Given the description of an element on the screen output the (x, y) to click on. 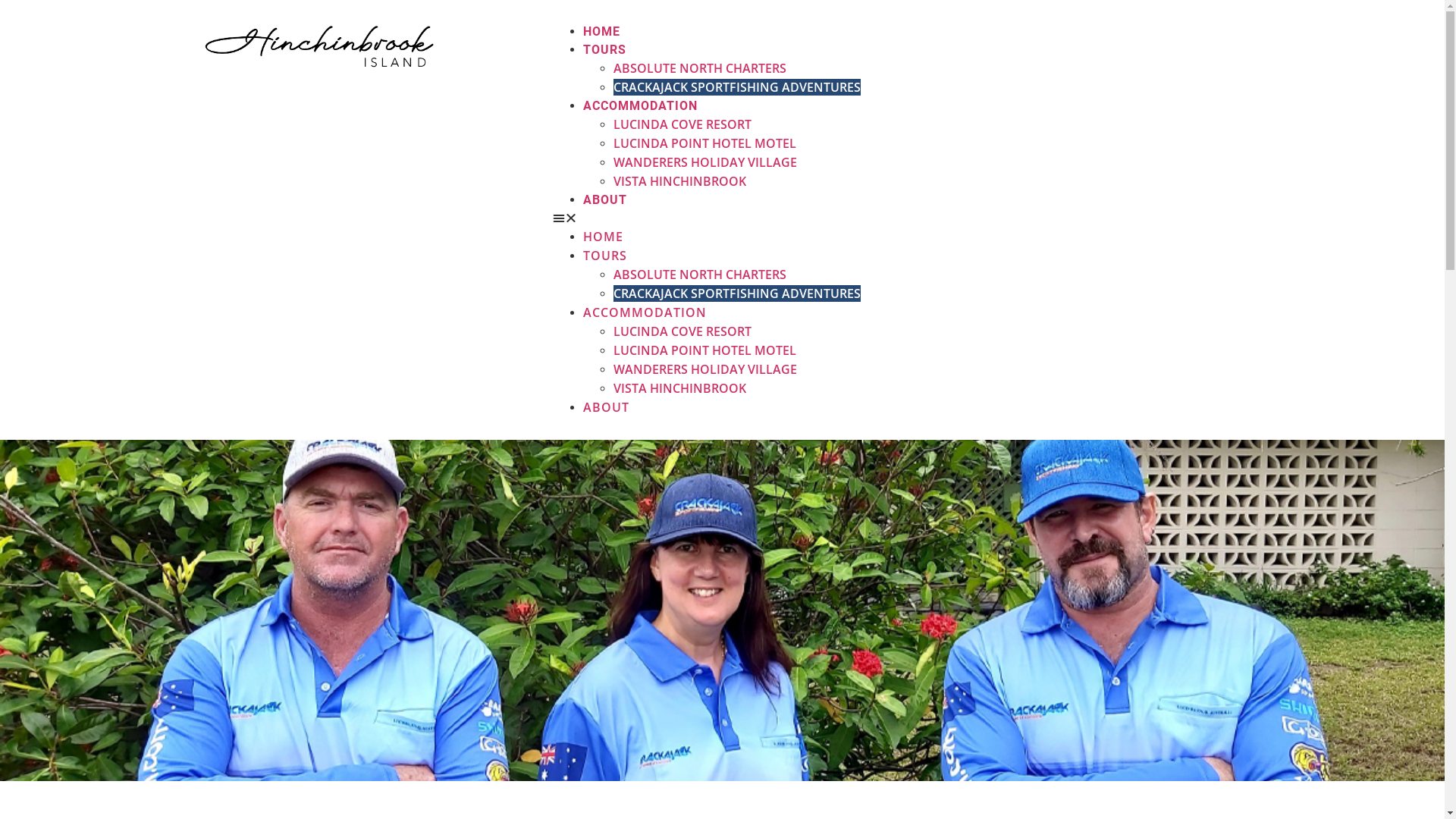
ABSOLUTE NORTH CHARTERS Element type: text (699, 274)
ACCOMMODATION Element type: text (640, 105)
ABOUT Element type: text (606, 406)
LUCINDA POINT HOTEL MOTEL Element type: text (704, 142)
TOURS Element type: text (604, 49)
ACCOMMODATION Element type: text (644, 312)
HOME Element type: text (601, 31)
WANDERERS HOLIDAY VILLAGE Element type: text (705, 161)
HOME Element type: text (603, 236)
CRACKAJACK SPORTFISHING ADVENTURES Element type: text (736, 293)
VISTA HINCHINBROOK Element type: text (679, 387)
VISTA HINCHINBROOK Element type: text (679, 180)
ABOUT Element type: text (605, 199)
LUCINDA COVE RESORT Element type: text (682, 124)
ABSOLUTE NORTH CHARTERS Element type: text (699, 67)
TOURS Element type: text (605, 255)
WANDERERS HOLIDAY VILLAGE Element type: text (705, 368)
LUCINDA COVE RESORT Element type: text (682, 331)
CRACKAJACK SPORTFISHING ADVENTURES Element type: text (736, 86)
LUCINDA POINT HOTEL MOTEL Element type: text (704, 350)
